Given the description of an element on the screen output the (x, y) to click on. 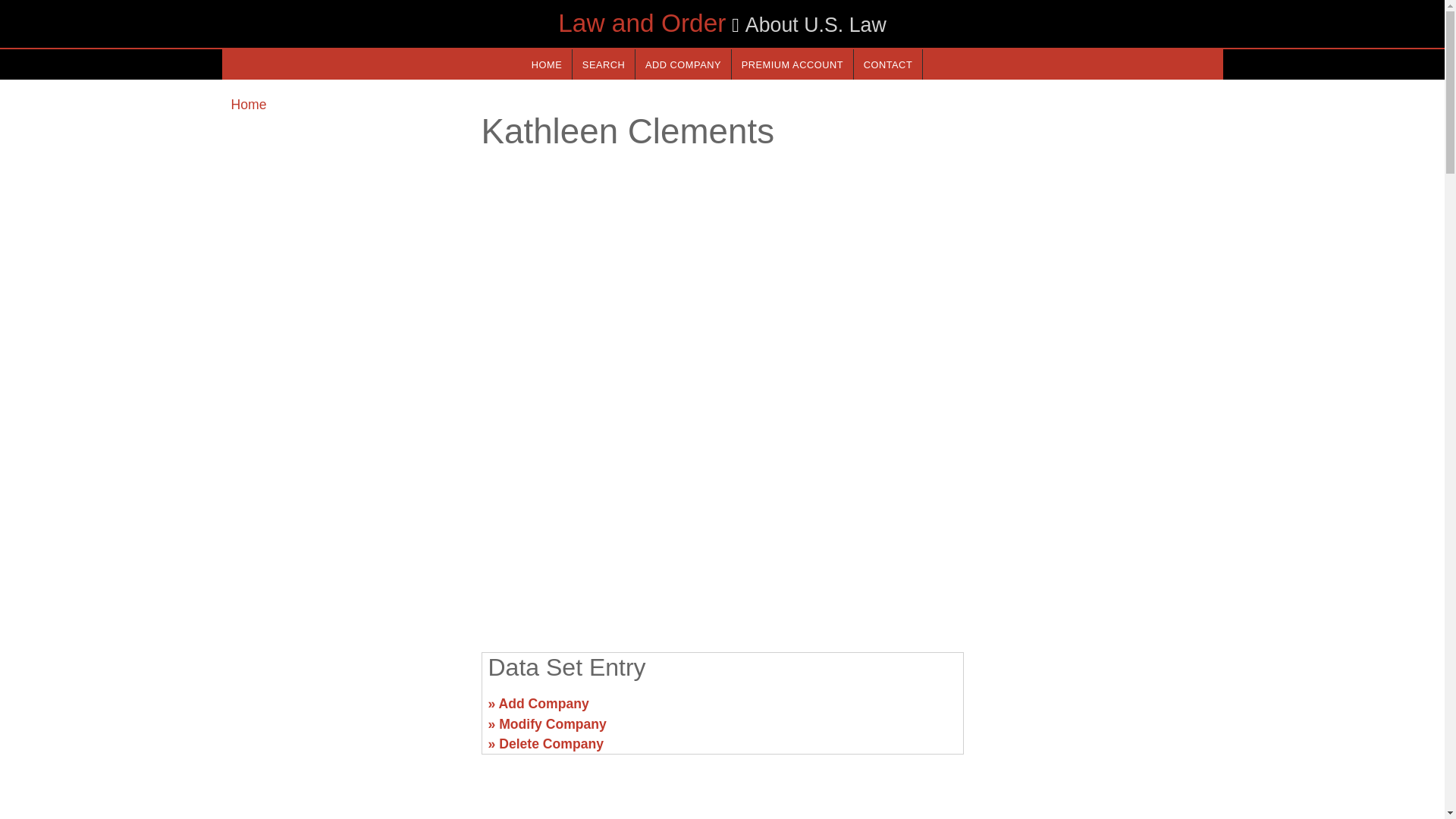
Law and Order (641, 22)
Add a new company (682, 64)
ADD COMPANY (682, 64)
Home (248, 104)
SEARCH (603, 64)
Premium account (792, 64)
Advertisement (1096, 710)
Advertisement (346, 710)
CONTACT (887, 64)
